Given the description of an element on the screen output the (x, y) to click on. 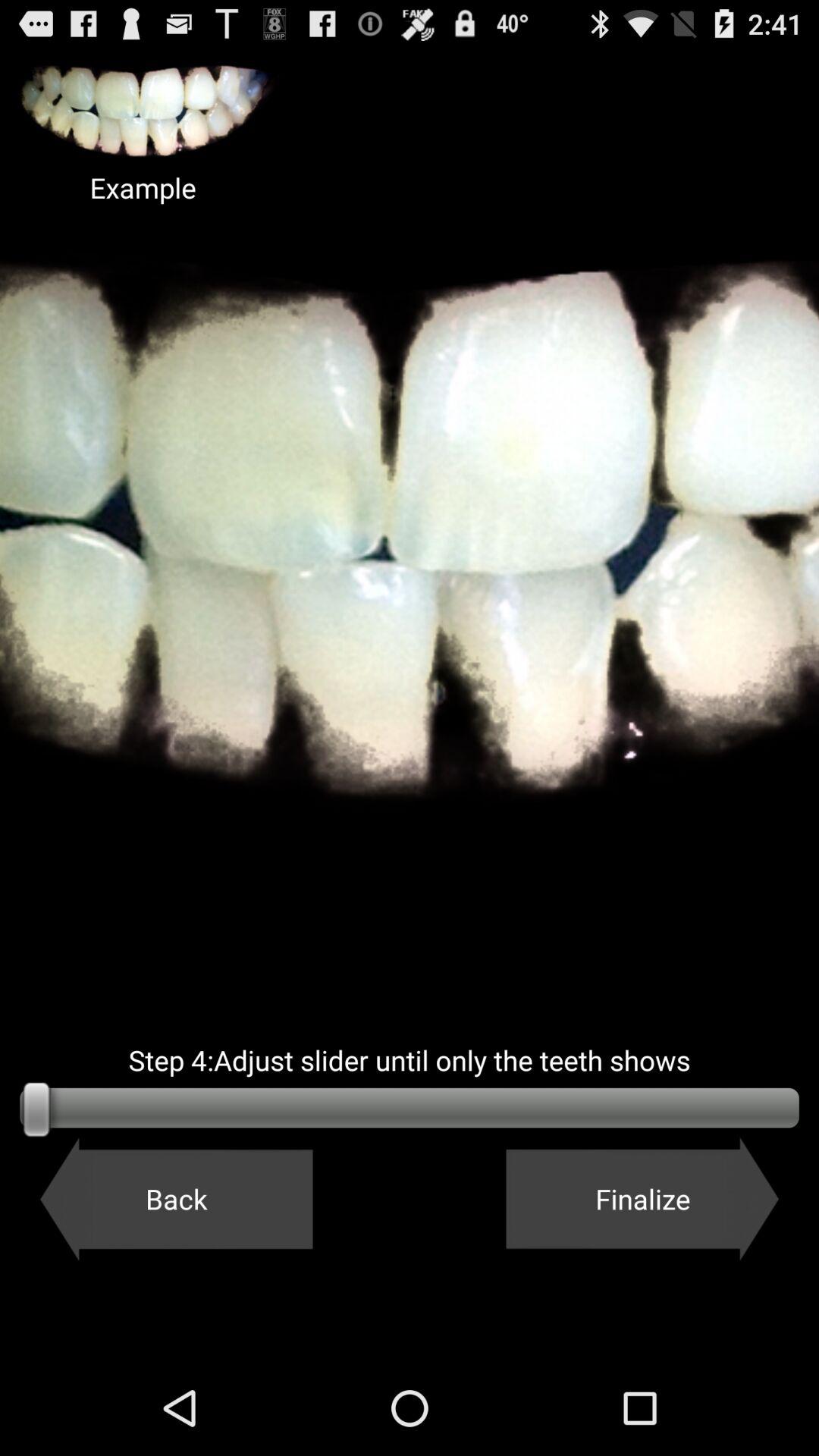
click the button to the right of back button (642, 1198)
